Given the description of an element on the screen output the (x, y) to click on. 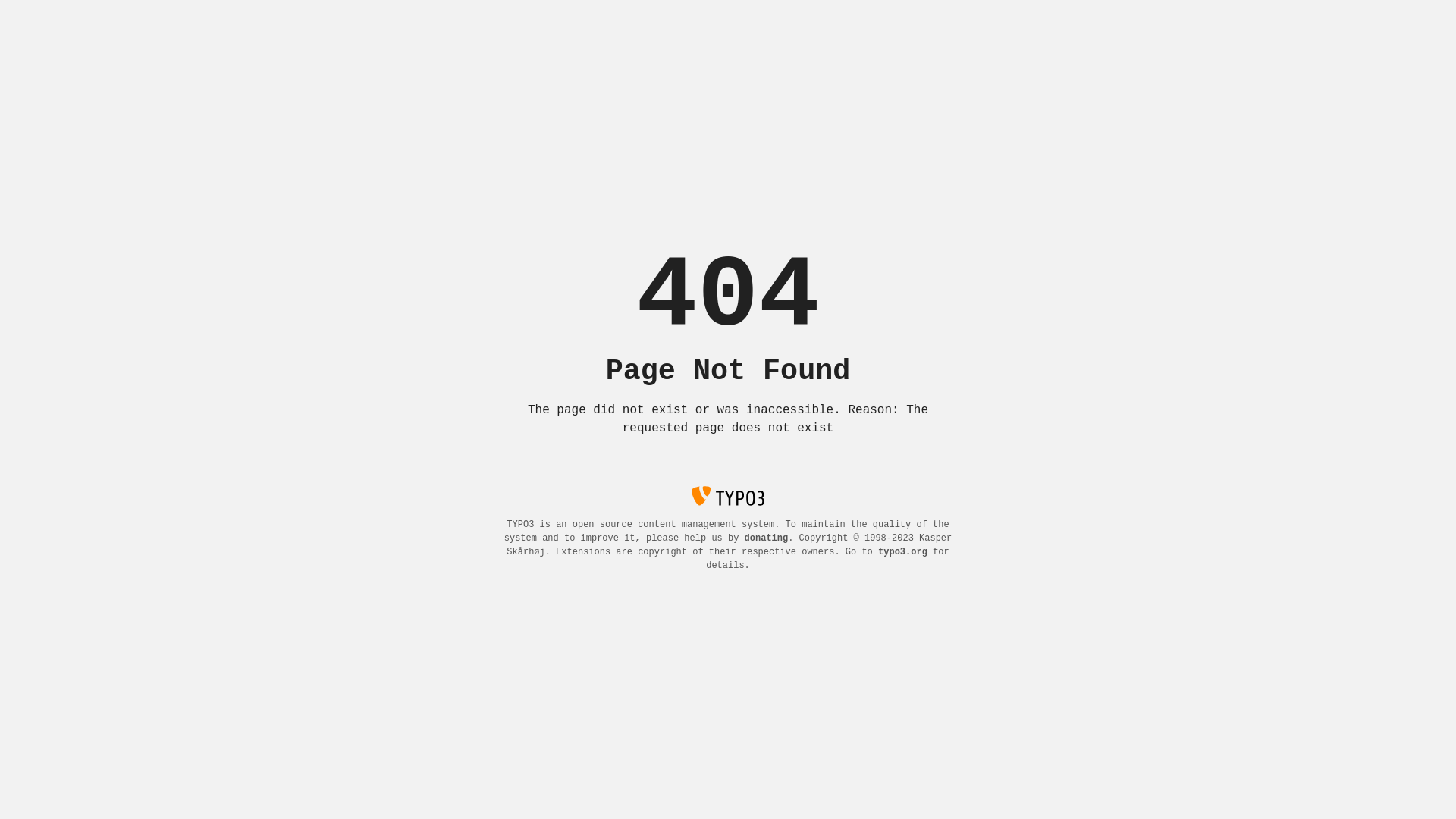
donating Element type: text (766, 538)
typo3.org Element type: text (902, 551)
